Given the description of an element on the screen output the (x, y) to click on. 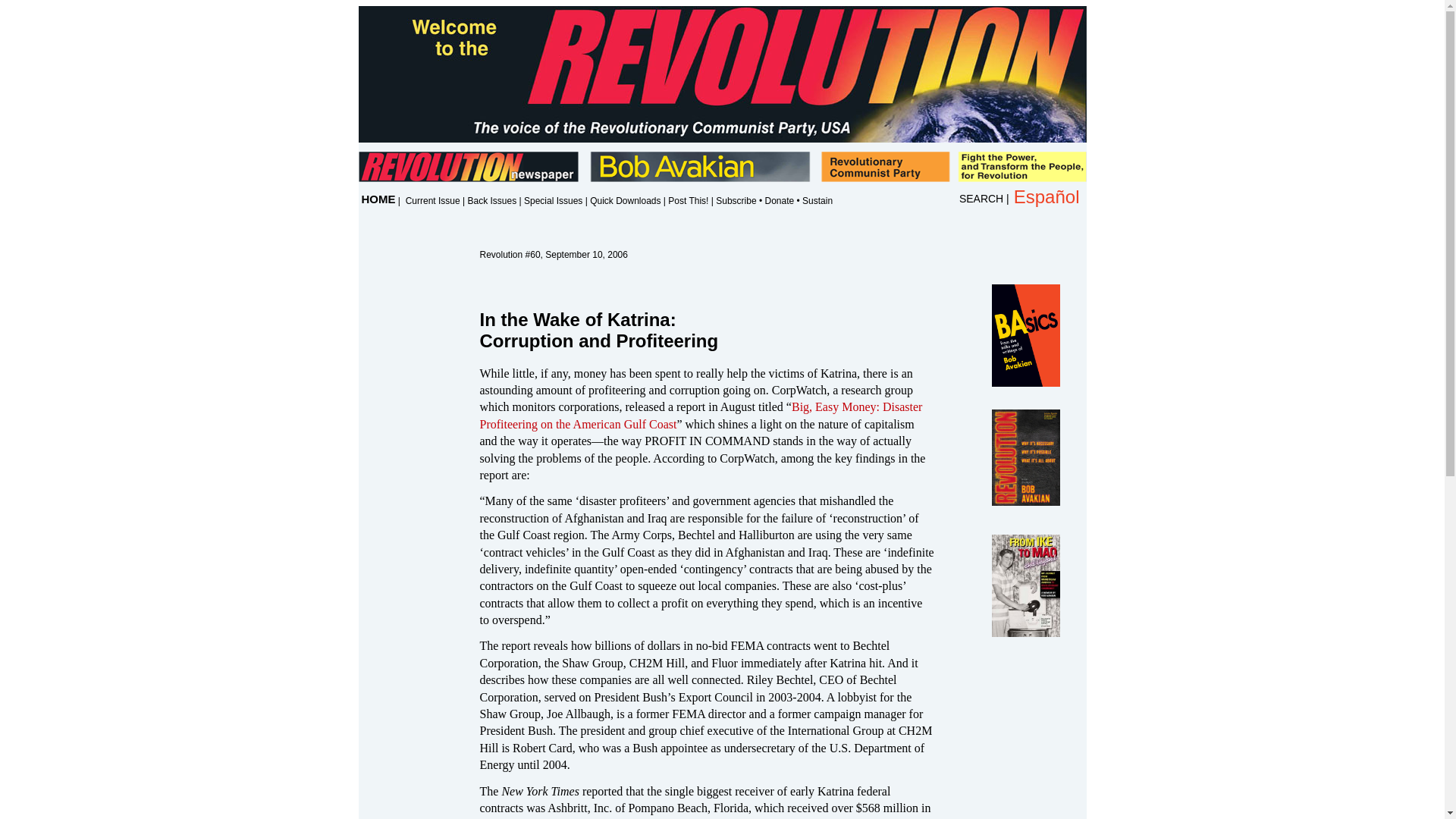
Back Issues (491, 200)
Post This! (687, 200)
HOME (377, 198)
Quick Downloads (625, 200)
Special Issues (553, 200)
SEARCH (981, 198)
Current Issue (433, 200)
